Given the description of an element on the screen output the (x, y) to click on. 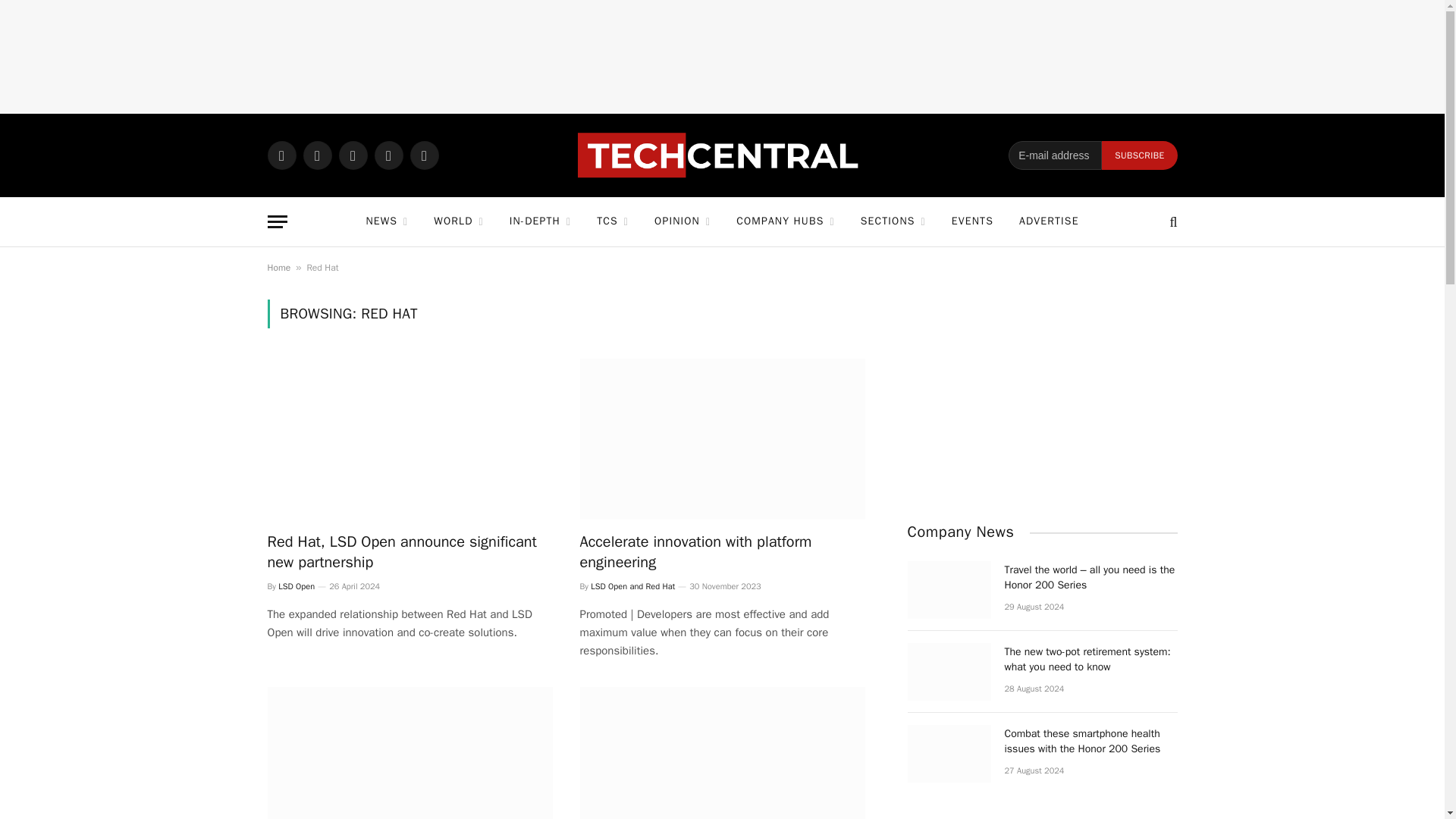
IN-DEPTH (539, 221)
TechCentral (722, 155)
NEWS (386, 221)
LinkedIn (388, 154)
WhatsApp (280, 154)
YouTube (423, 154)
Facebook (316, 154)
Subscribe (1139, 154)
WORLD (458, 221)
Subscribe (1139, 154)
